Given the description of an element on the screen output the (x, y) to click on. 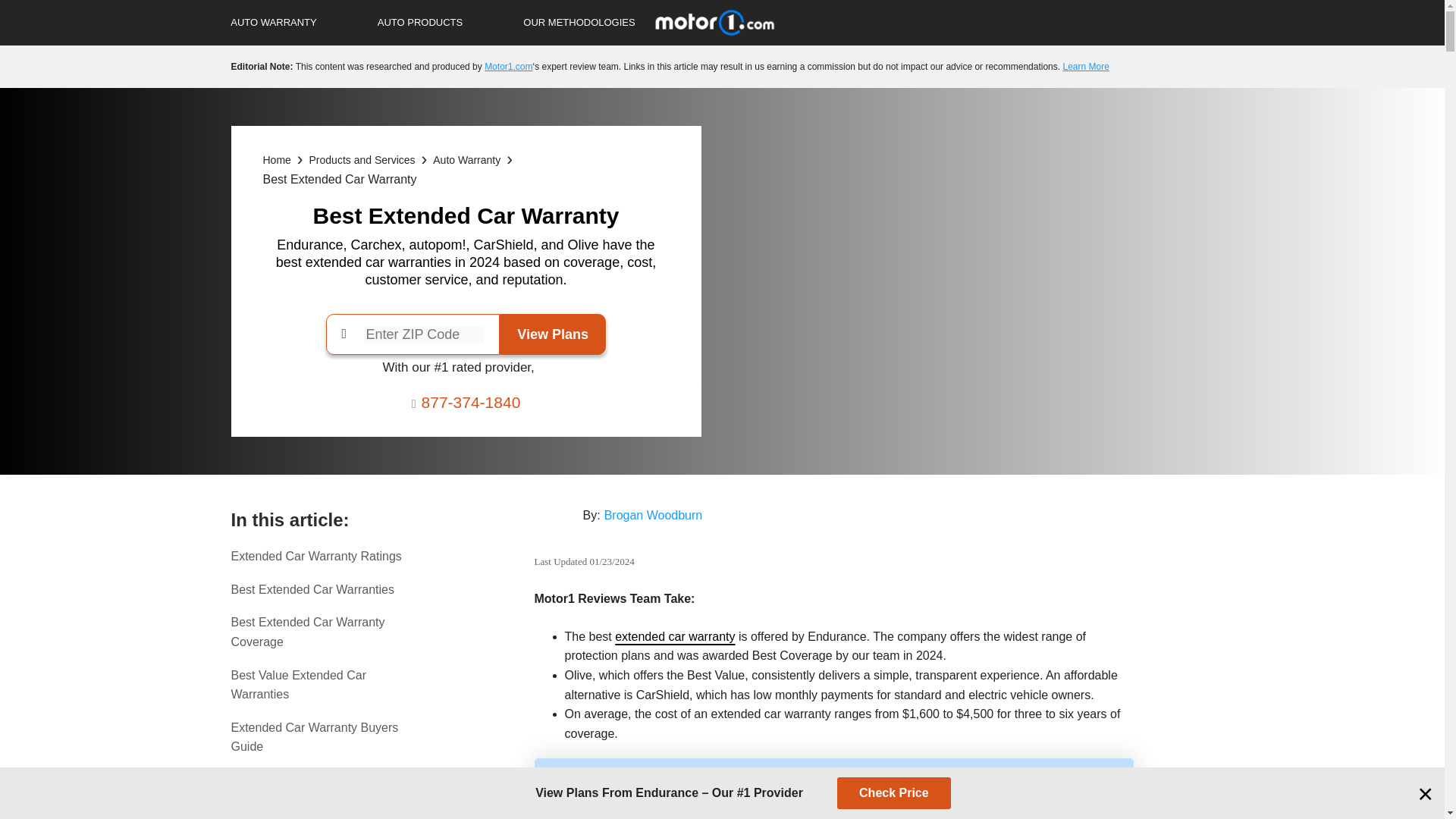
extended car warranty (674, 635)
Best Extended Car Warranties (321, 589)
Extended Car Warranty Buyers Guide (321, 737)
Best Extended Auto Warranties: Bottom Line (321, 789)
Best Extended Car Warranty Coverage (321, 631)
Extended Car Warranty Ratings (321, 556)
Best Value Extended Car Warranties (321, 684)
AUTO PRODUCTS (419, 22)
AUTO WARRANTY (273, 22)
OUR METHODOLOGIES (579, 22)
